Given the description of an element on the screen output the (x, y) to click on. 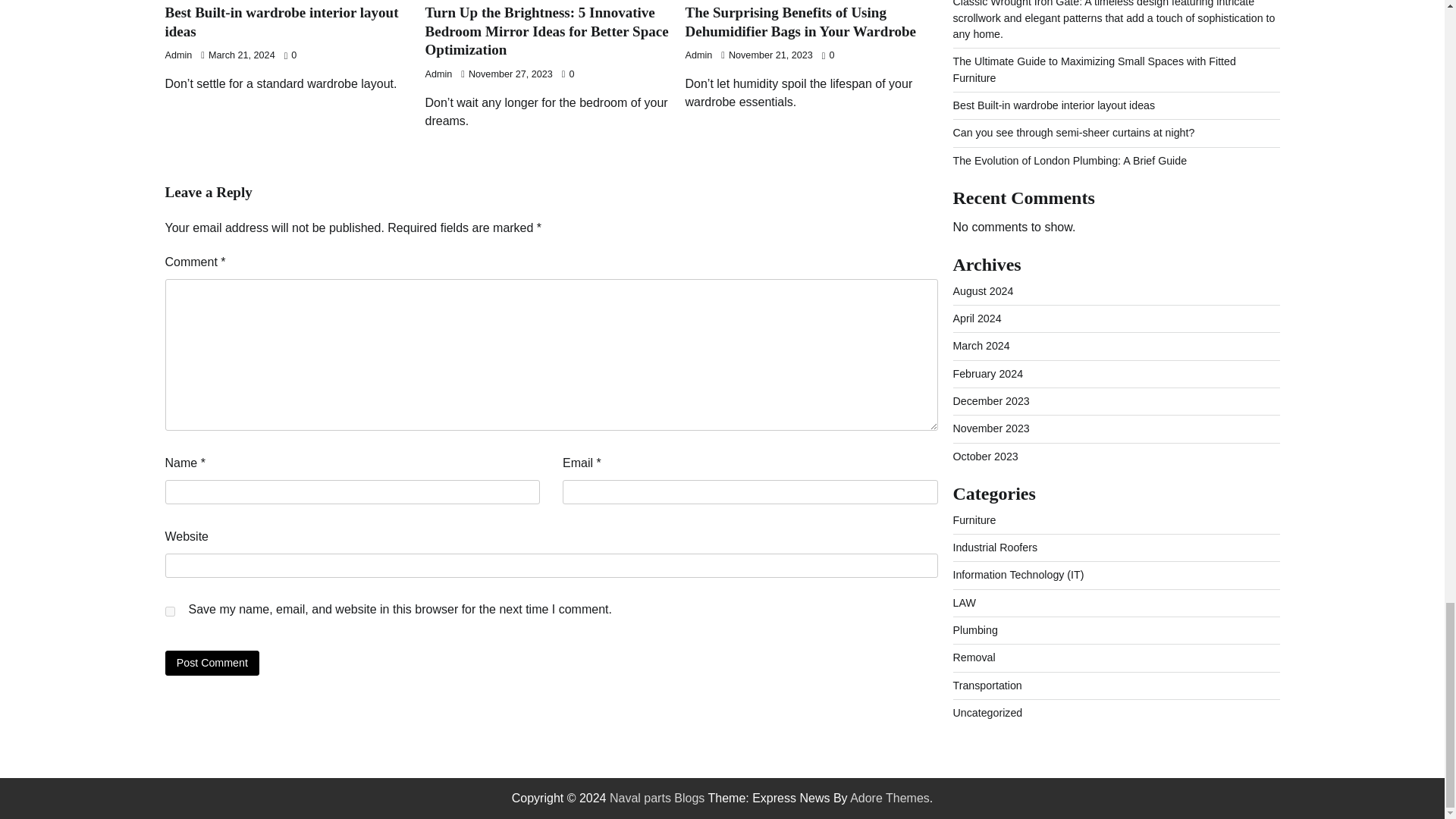
Admin (438, 73)
Best Built-in wardrobe interior layout ideas (281, 21)
Post Comment (212, 662)
Admin (699, 54)
Post Comment (212, 662)
yes (169, 611)
Admin (178, 54)
